Given the description of an element on the screen output the (x, y) to click on. 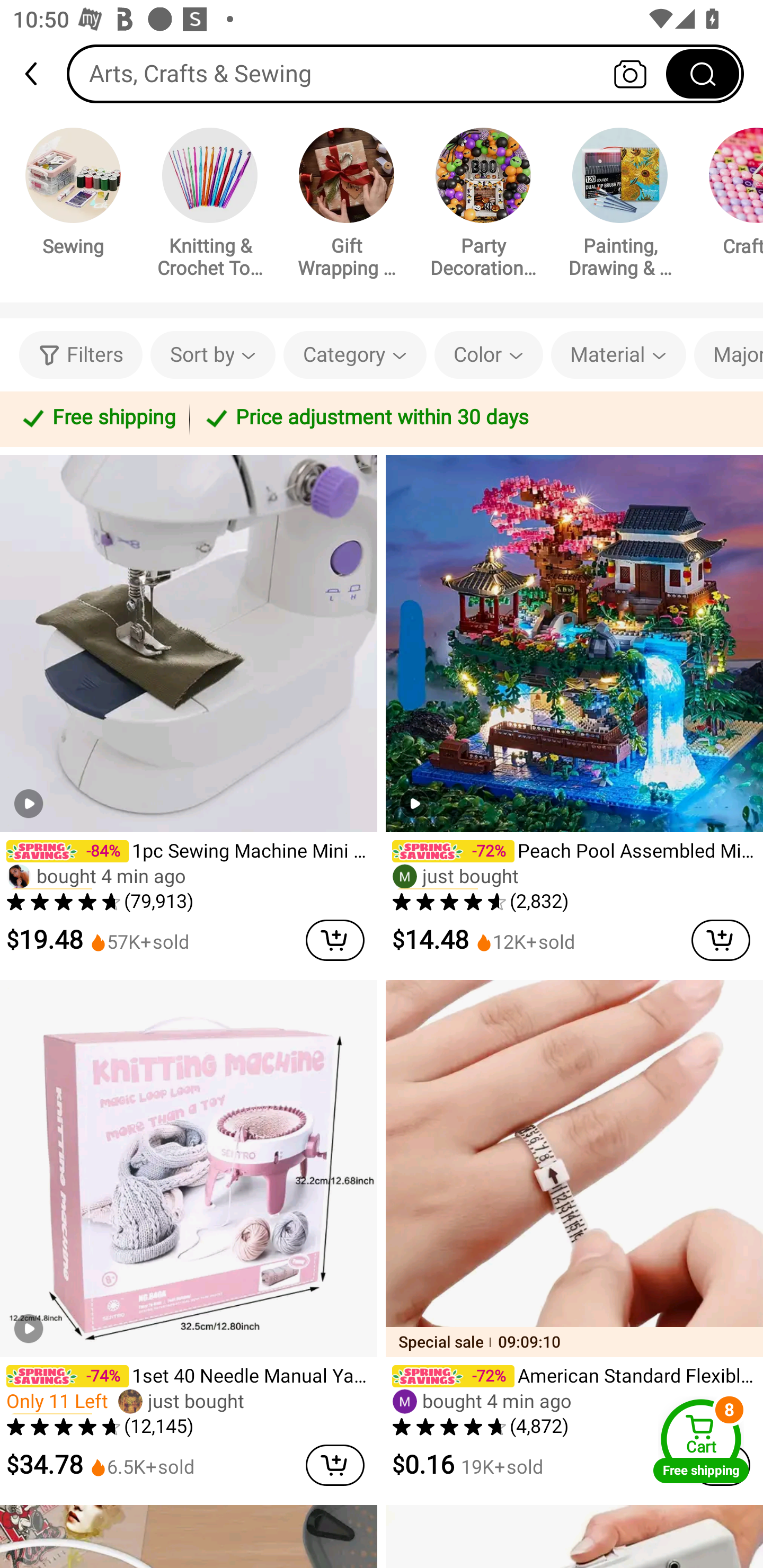
back (39, 73)
Arts, Crafts & Sewing (405, 73)
Sewing (73, 195)
Knitting & Crochet Tools (209, 205)
Gift Wrapping Supplies (346, 205)
Party Decorations & Supplies (483, 205)
Painting, Drawing & Art Supplies (619, 205)
Filters (80, 354)
Sort by (212, 354)
Category (354, 354)
Color (488, 354)
Material (617, 354)
Major Material (728, 354)
Free shipping (97, 418)
Price adjustment within 30 days (472, 418)
cart delete (334, 939)
cart delete (720, 939)
Cart Free shipping Cart (701, 1440)
cart delete (334, 1465)
cart delete (720, 1465)
